Given the description of an element on the screen output the (x, y) to click on. 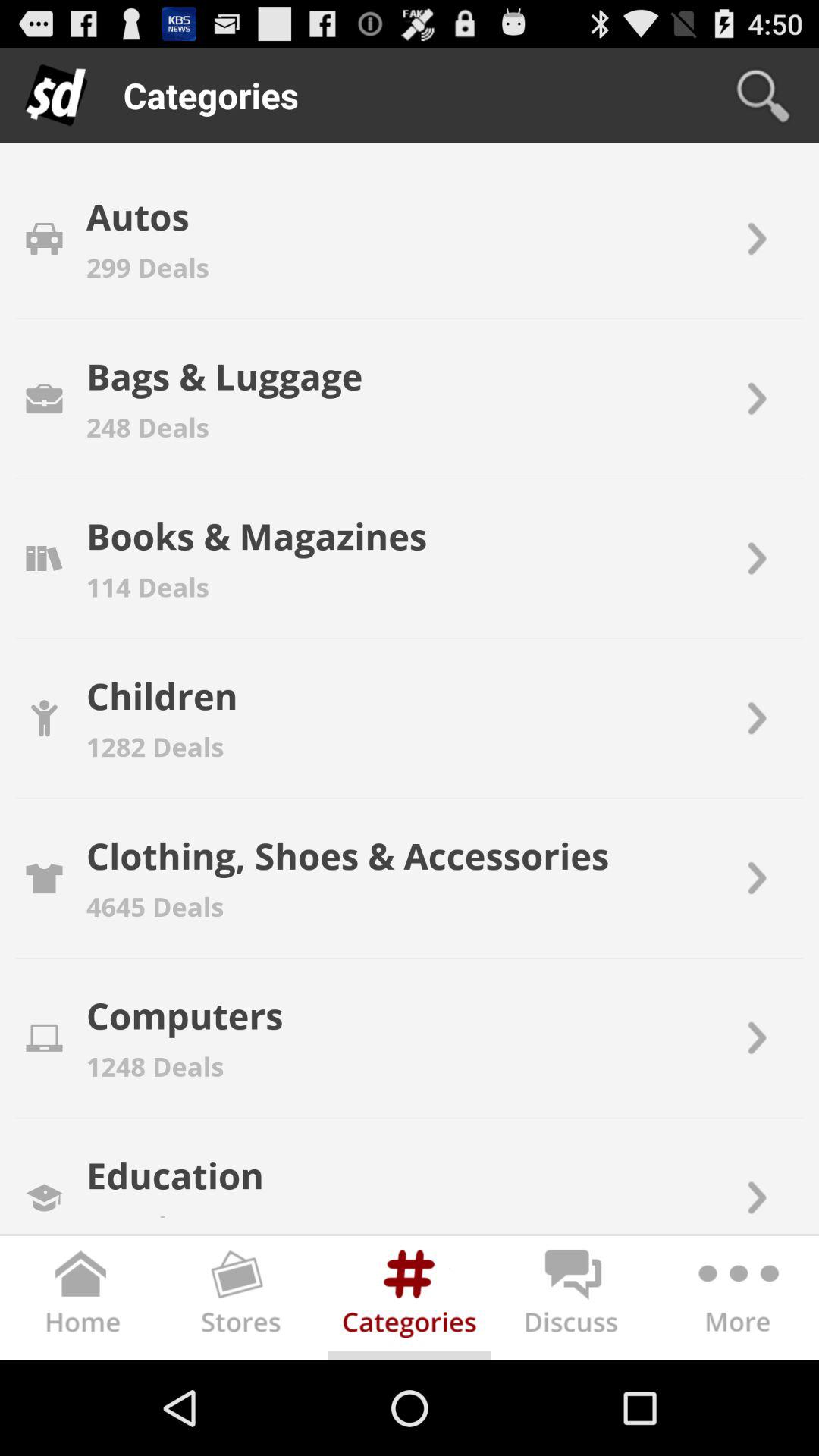
open item below the 4645 deals (184, 1015)
